Given the description of an element on the screen output the (x, y) to click on. 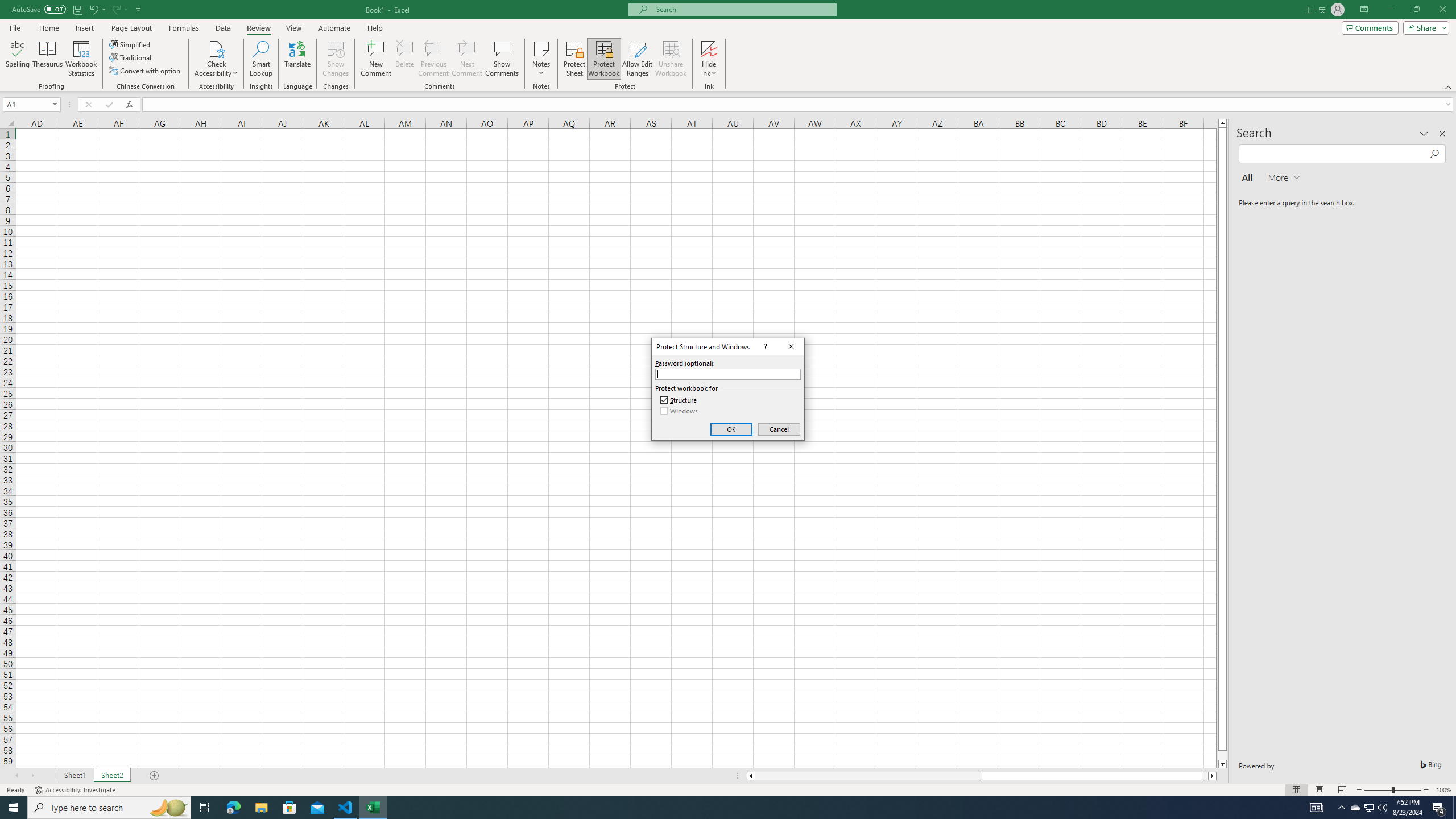
Start (13, 807)
Allow Edit Ranges (637, 58)
AutomationID: 4105 (1316, 807)
Cancel (778, 429)
Running applications (717, 807)
Windows (679, 411)
Hide Ink (708, 48)
New Comment (376, 58)
Hide Ink (708, 58)
Next Comment (466, 58)
